Given the description of an element on the screen output the (x, y) to click on. 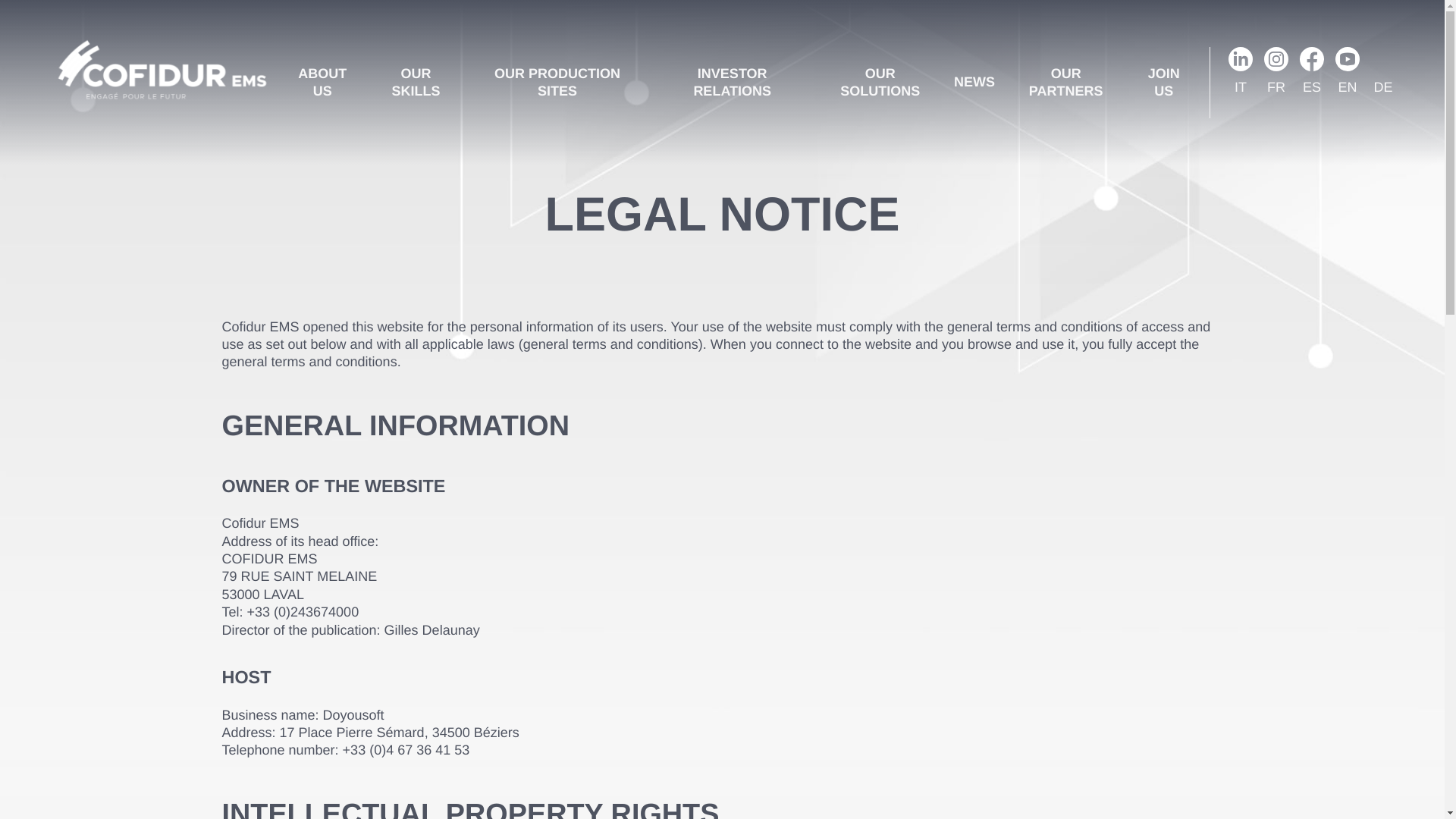
OUR PARTNERS (1066, 82)
Nos solutions (880, 82)
INVESTOR RELATIONS (732, 82)
Nous connaitre (322, 82)
DE (1382, 90)
OUR SKILLS (415, 82)
FR (1275, 90)
OUR PRODUCTION SITES (557, 82)
EN (1347, 90)
JOIN US (1163, 82)
